Given the description of an element on the screen output the (x, y) to click on. 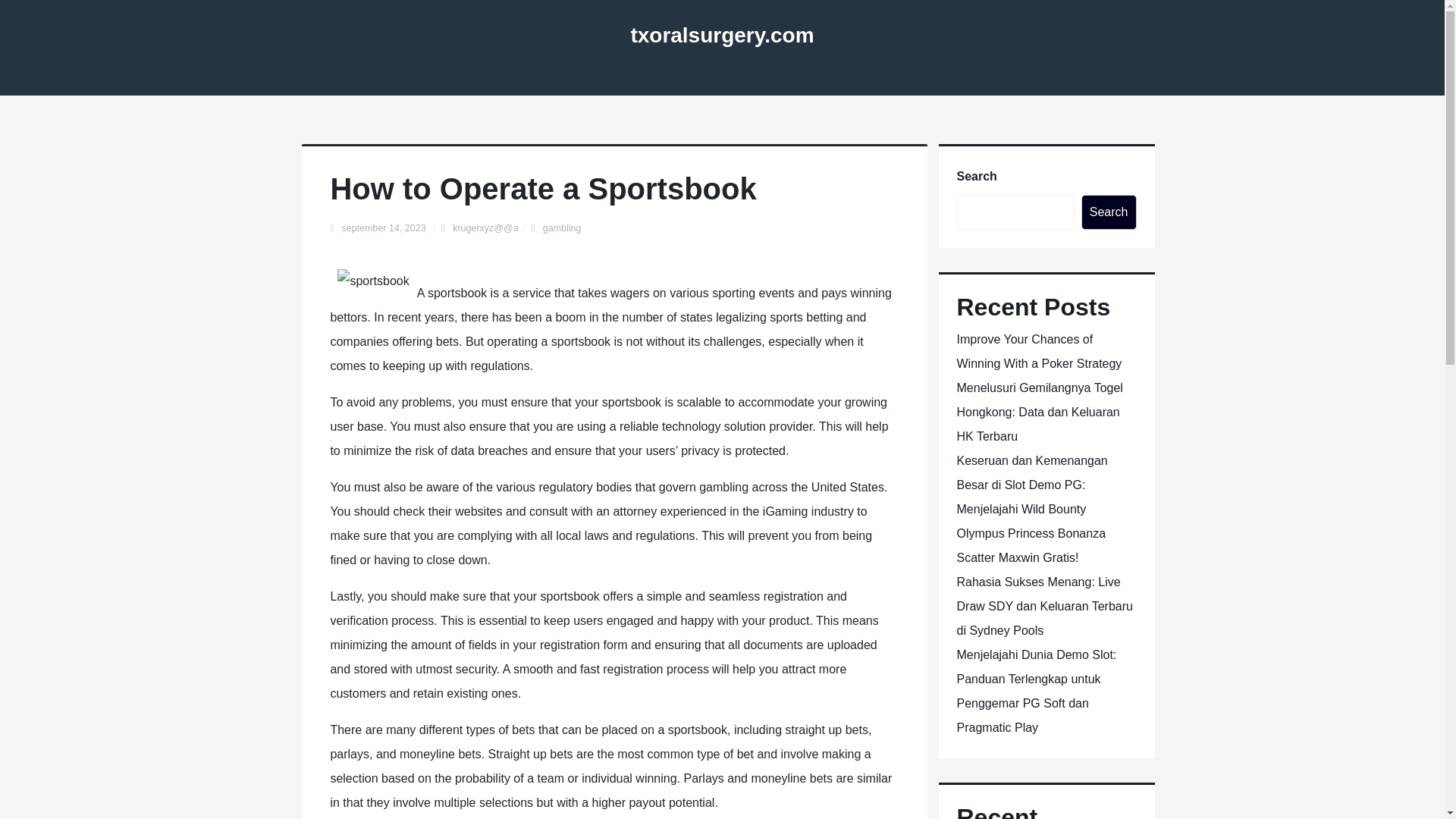
Search (1109, 212)
Improve Your Chances of Winning With a Poker Strategy (1039, 351)
september 14, 2023 (384, 227)
gambling (561, 227)
txoralsurgery.com (721, 34)
